Given the description of an element on the screen output the (x, y) to click on. 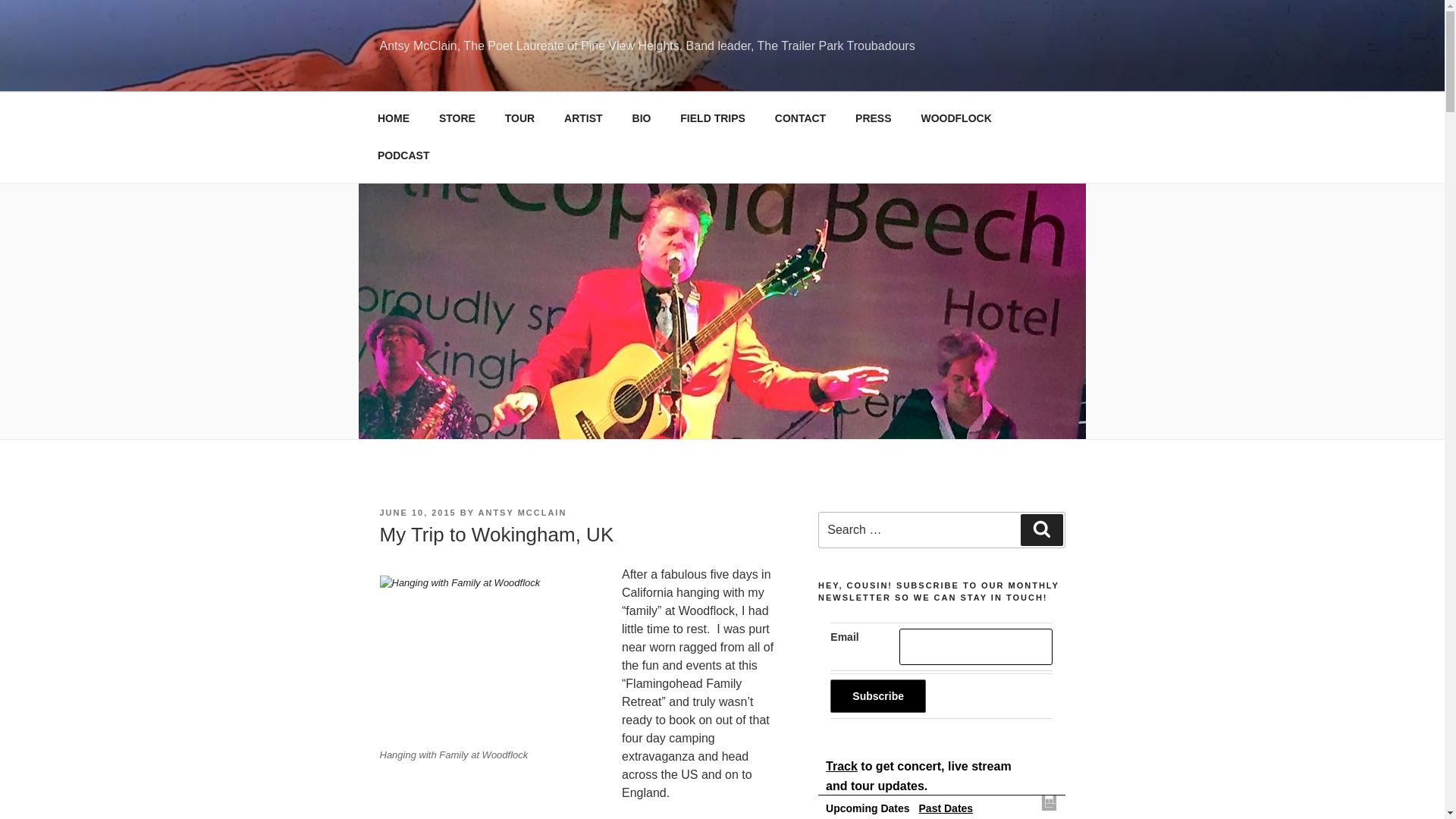
CONTACT (799, 118)
JUNE 10, 2015 (416, 511)
FIELD TRIPS (712, 118)
STORE (456, 118)
TOUR (519, 118)
HOME (393, 118)
BIO (640, 118)
WOODFLOCK (955, 118)
ANTSY MCCLAIN (523, 511)
PODCAST (403, 155)
